Given the description of an element on the screen output the (x, y) to click on. 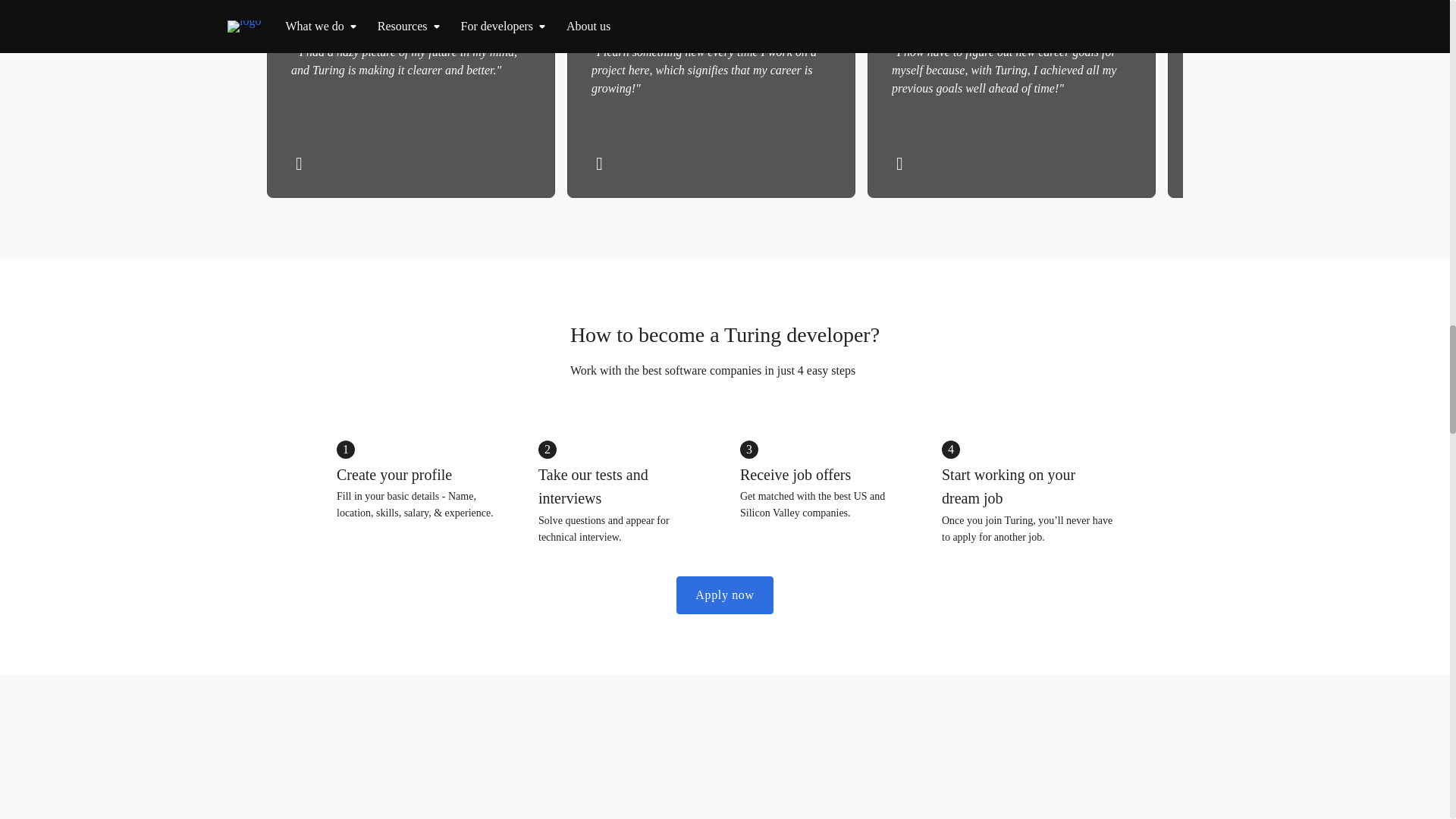
Apply now (725, 595)
